Given the description of an element on the screen output the (x, y) to click on. 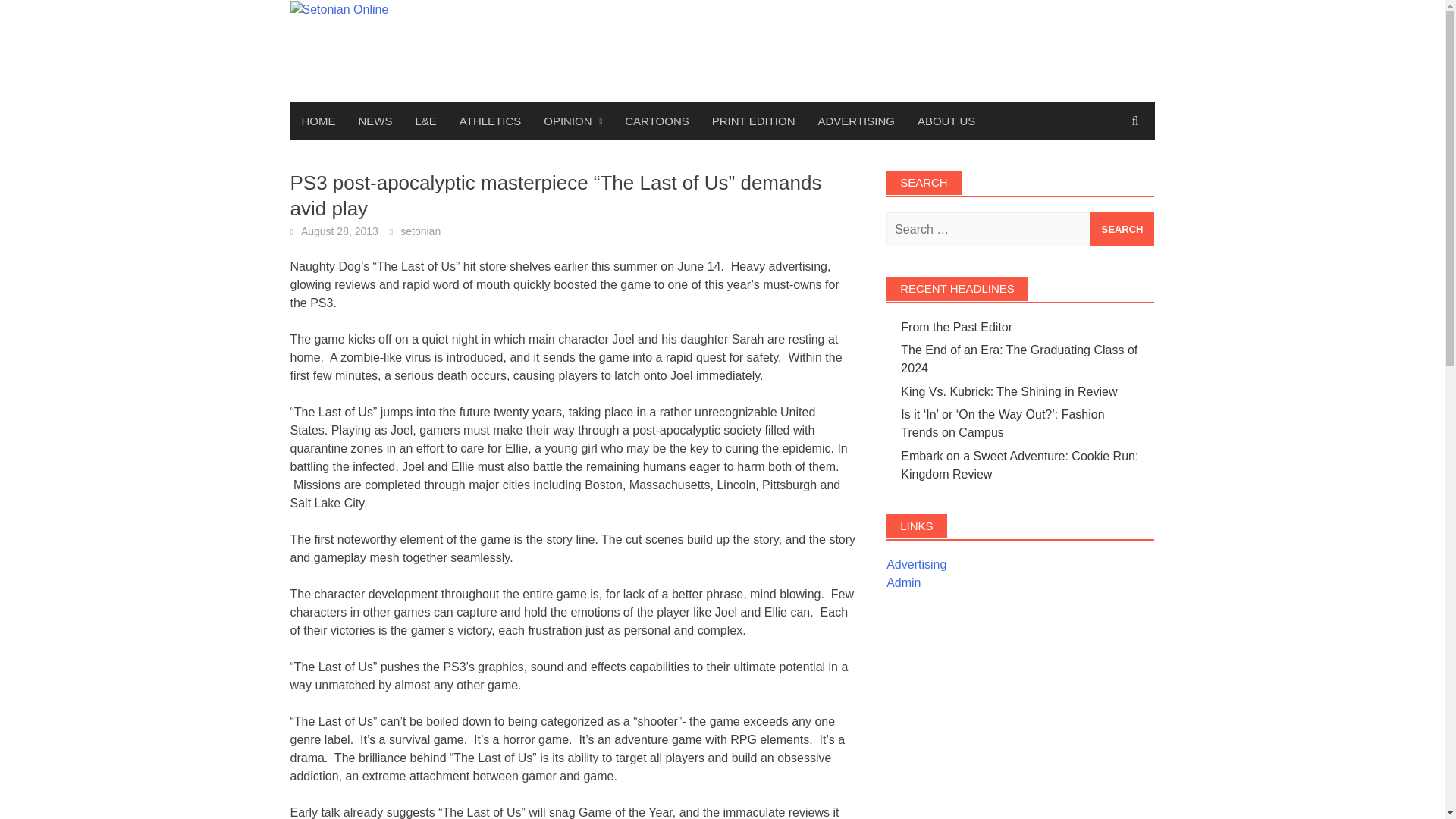
ATHLETICS (490, 121)
ADVERTISING (855, 121)
PRINT EDITION (753, 121)
setonian (420, 231)
HOME (317, 121)
August 28, 2013 (339, 231)
ABOUT US (946, 121)
Search (1122, 229)
OPINION (572, 121)
Search (1122, 229)
CARTOONS (656, 121)
NEWS (375, 121)
